Given the description of an element on the screen output the (x, y) to click on. 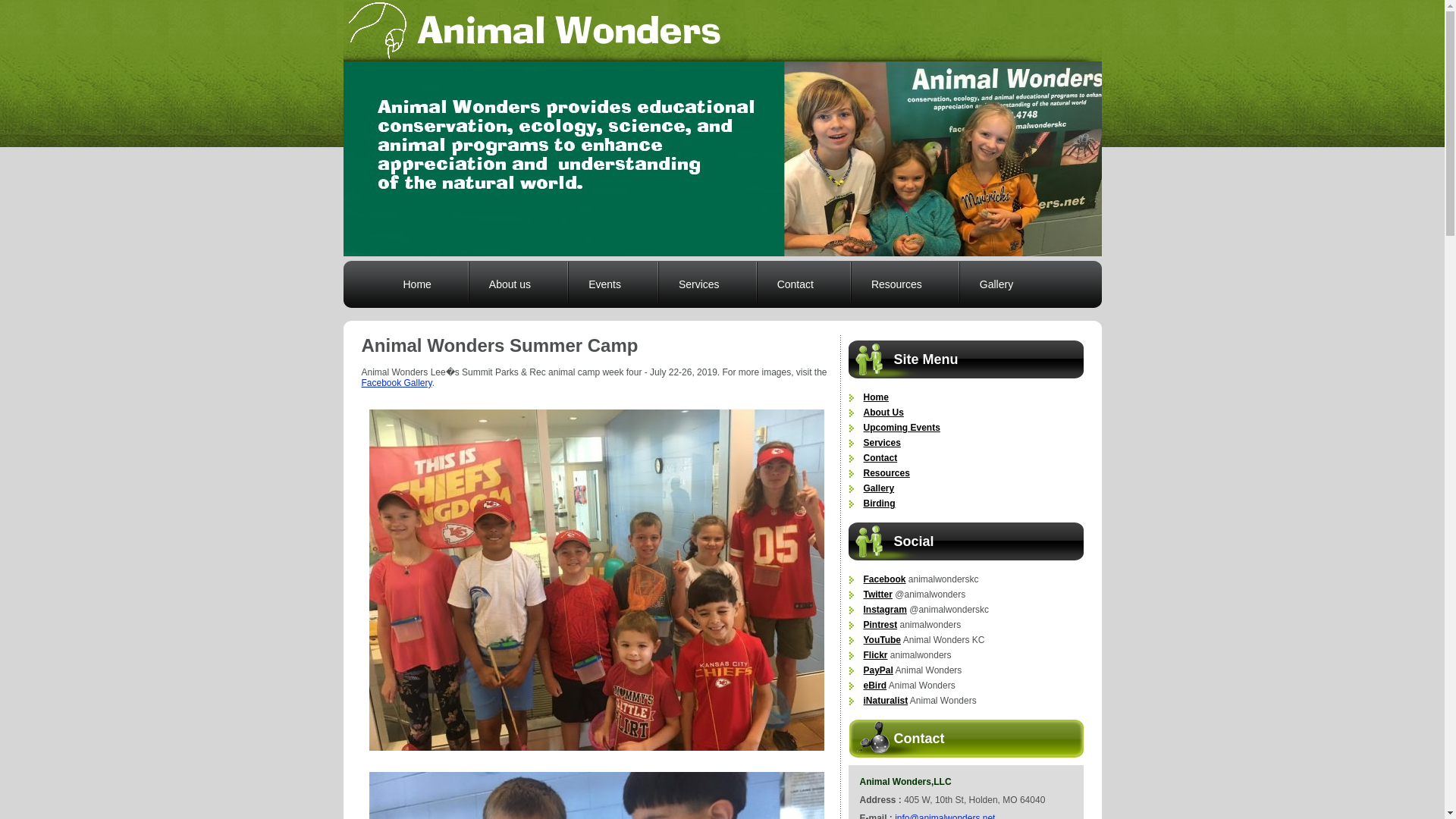
About us (517, 284)
iNaturalist (885, 700)
About Us (882, 412)
Pintrest (879, 624)
Gallery (878, 488)
PayPal (877, 670)
Gallery (1003, 284)
YouTube (882, 639)
Events (611, 284)
Facebook (884, 579)
Resources (885, 472)
Upcoming Events (901, 427)
eBird (874, 685)
Contact (802, 284)
Services (705, 284)
